Given the description of an element on the screen output the (x, y) to click on. 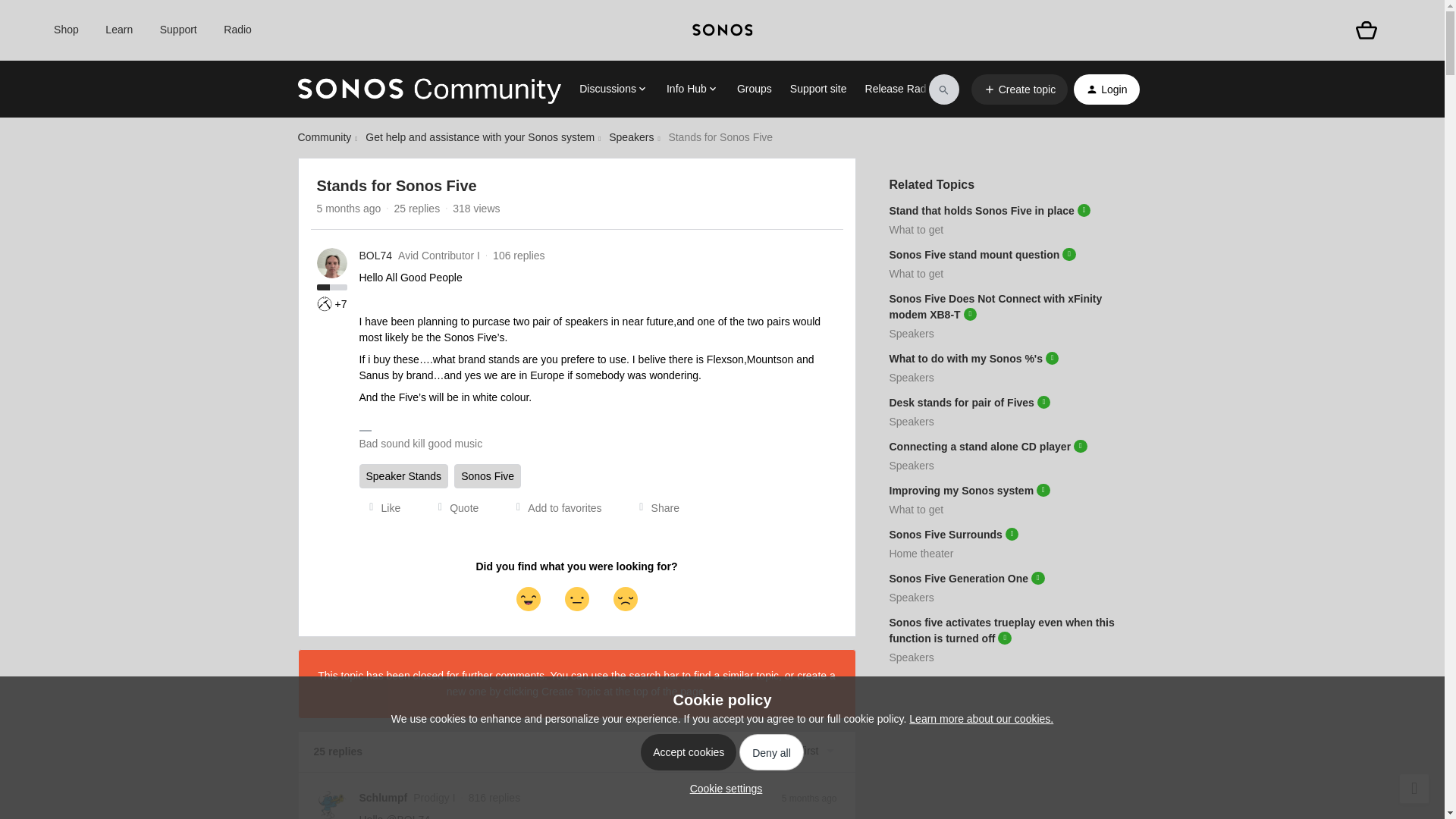
Radio (237, 30)
Discussions (613, 88)
Learn (118, 30)
Support (178, 30)
Shop (65, 30)
